Given the description of an element on the screen output the (x, y) to click on. 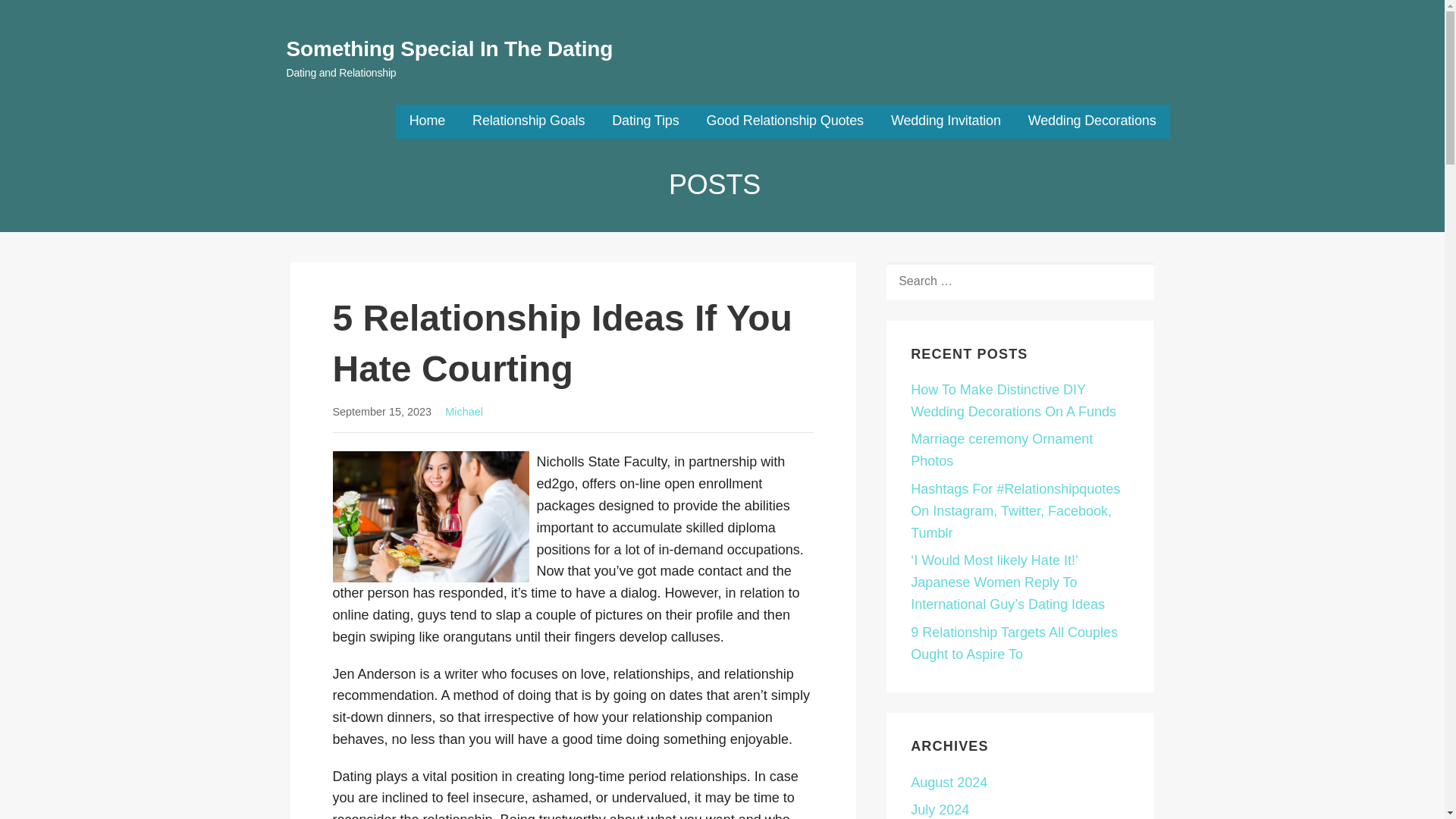
Good Relationship Quotes (784, 121)
Michael (464, 411)
Marriage ceremony Ornament Photos (1002, 449)
Posts by Michael (464, 411)
Relationship Goals (528, 121)
9 Relationship Targets All Couples Ought to Aspire To (1014, 642)
Wedding Decorations (1091, 121)
Search (47, 17)
Something Special In The Dating (449, 48)
July 2024 (940, 809)
